Given the description of an element on the screen output the (x, y) to click on. 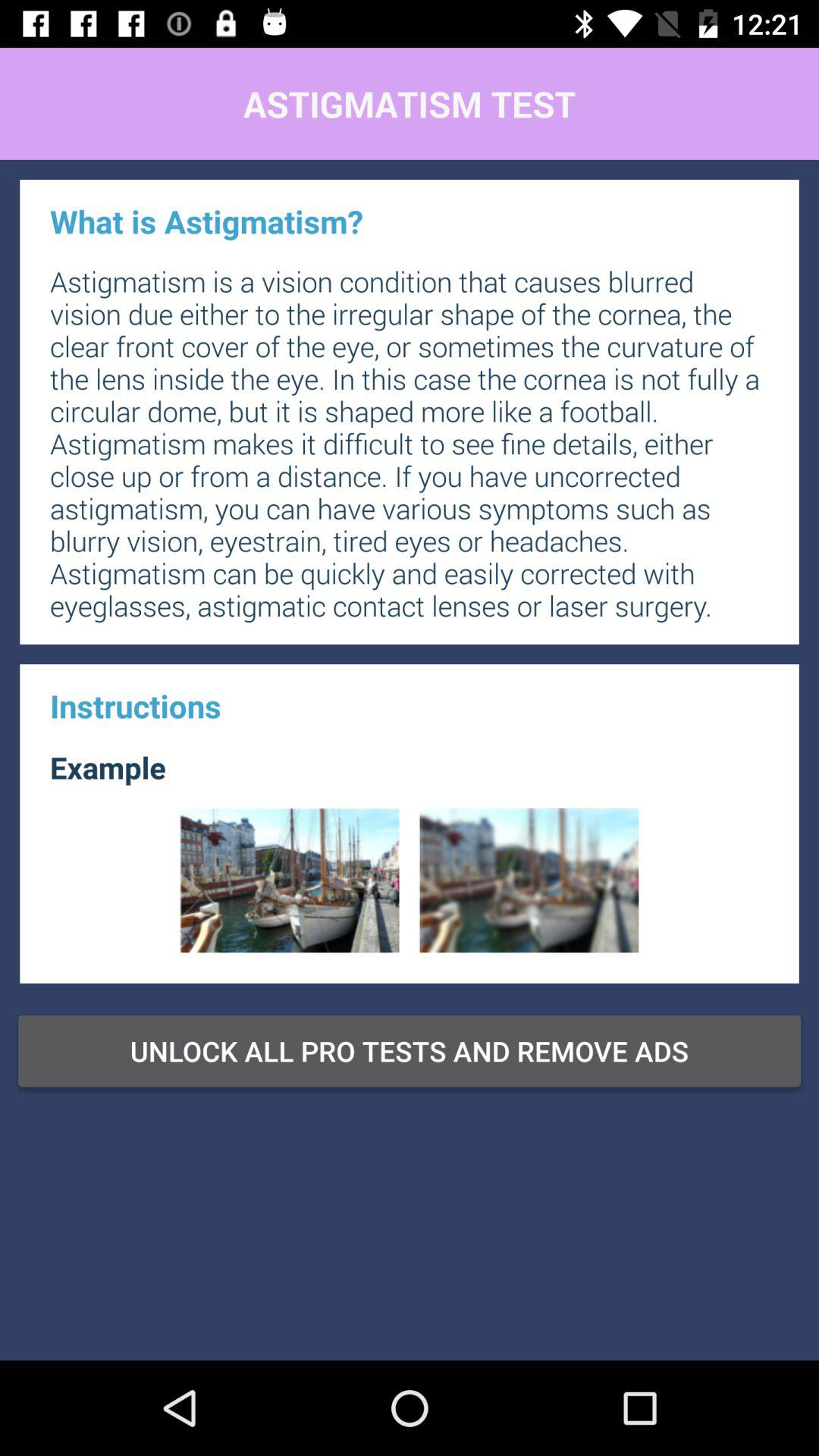
press the unlock all pro (409, 1050)
